Given the description of an element on the screen output the (x, y) to click on. 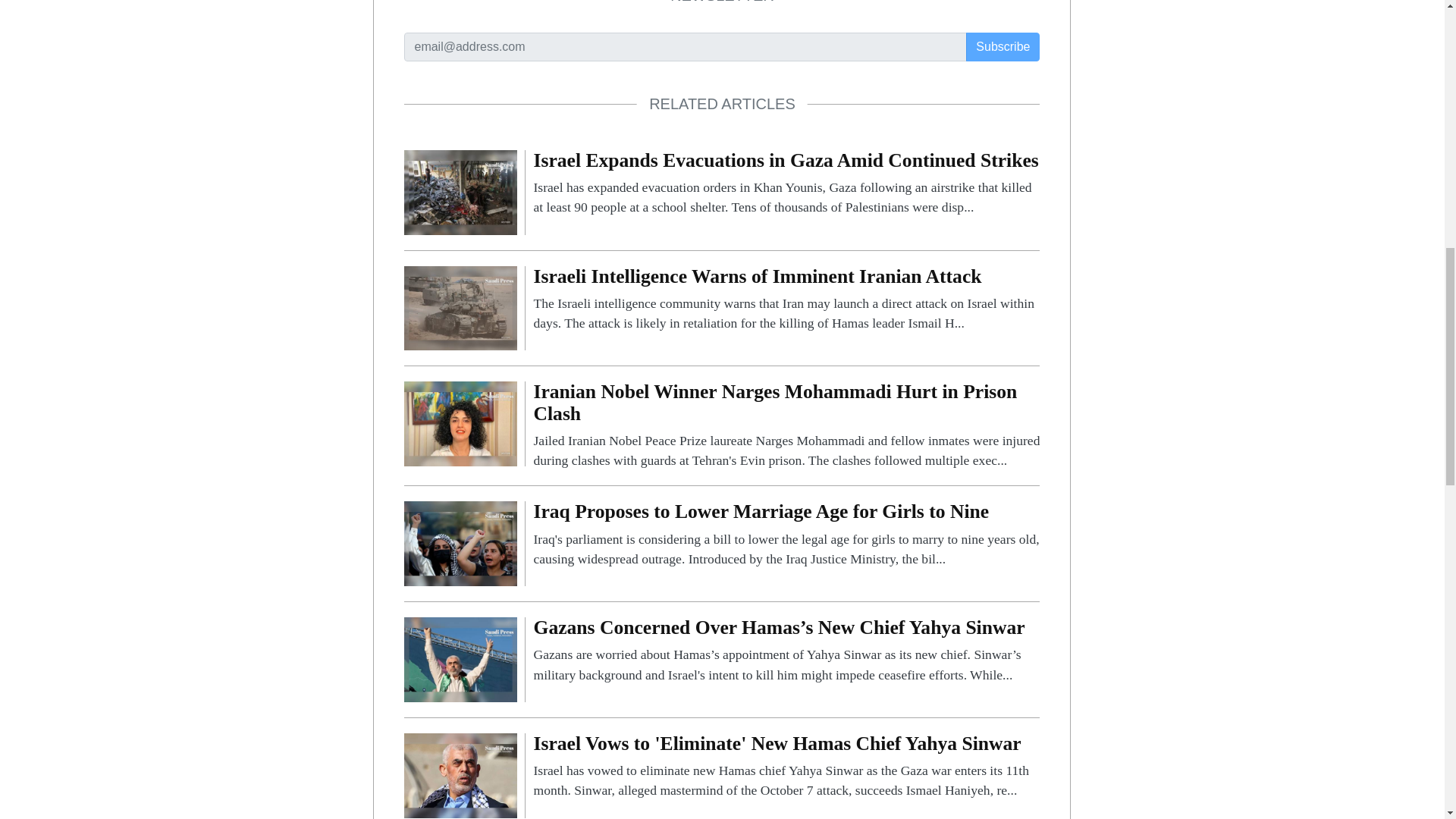
Iranian Nobel Winner Narges Mohammadi Hurt in Prison Clash (785, 425)
Israel Expands Evacuations in Gaza Amid Continued Strikes (785, 183)
Iraq Proposes to Lower Marriage Age for Girls to Nine (460, 543)
Subscribe (1002, 46)
Israeli Intelligence Warns of Imminent Iranian Attack (460, 307)
Israel Vows to 'Eliminate' New Hamas Chief Yahya Sinwar (460, 774)
Iranian Nobel Winner Narges Mohammadi Hurt in Prison Clash (460, 422)
